Given the description of an element on the screen output the (x, y) to click on. 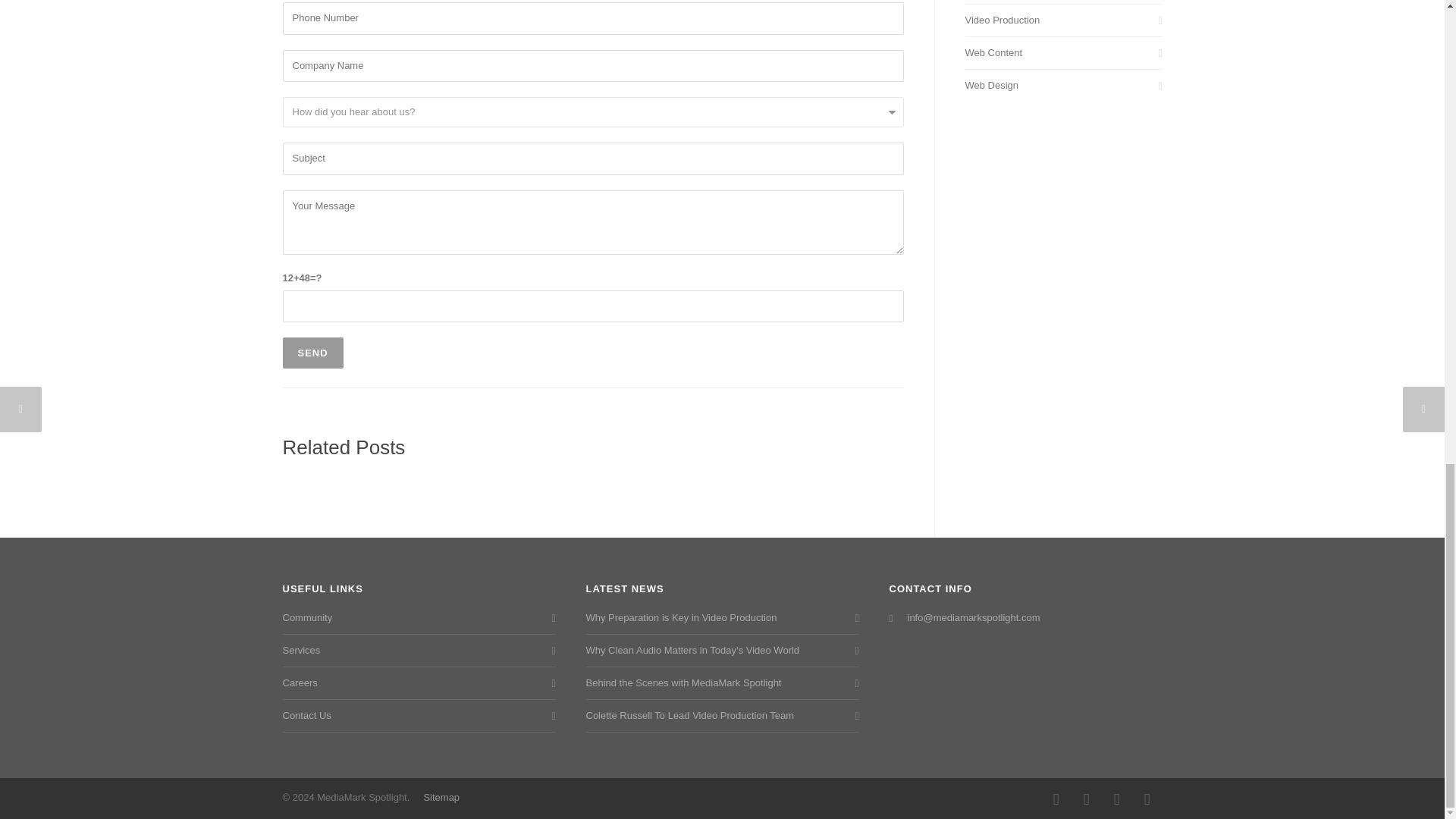
Send (312, 352)
LinkedIn (1115, 798)
Instagram (1085, 798)
Facebook (1055, 798)
YouTube (1146, 798)
